Given the description of an element on the screen output the (x, y) to click on. 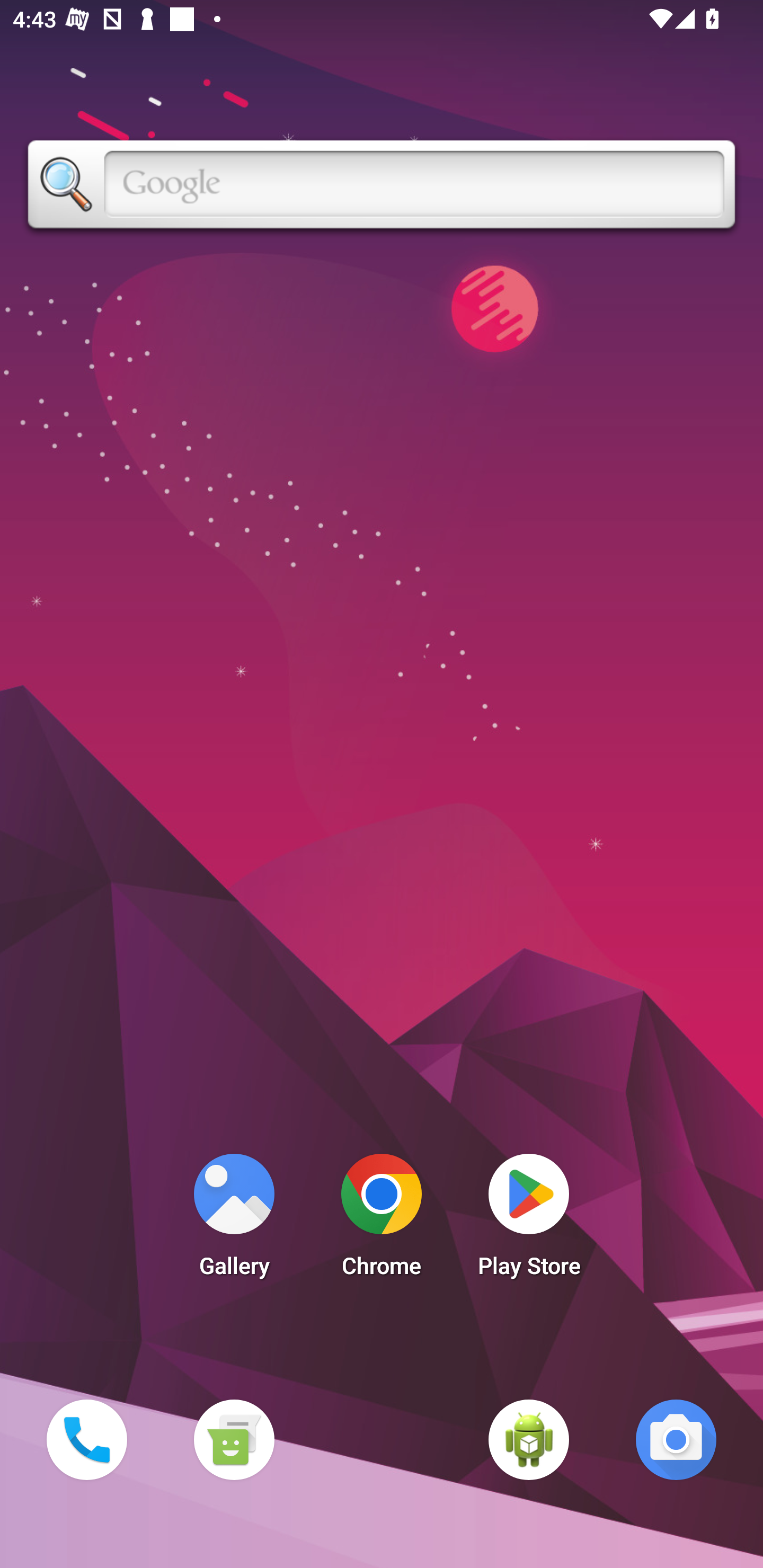
Gallery (233, 1220)
Chrome (381, 1220)
Play Store (528, 1220)
Phone (86, 1439)
Messaging (233, 1439)
WebView Browser Tester (528, 1439)
Camera (676, 1439)
